Given the description of an element on the screen output the (x, y) to click on. 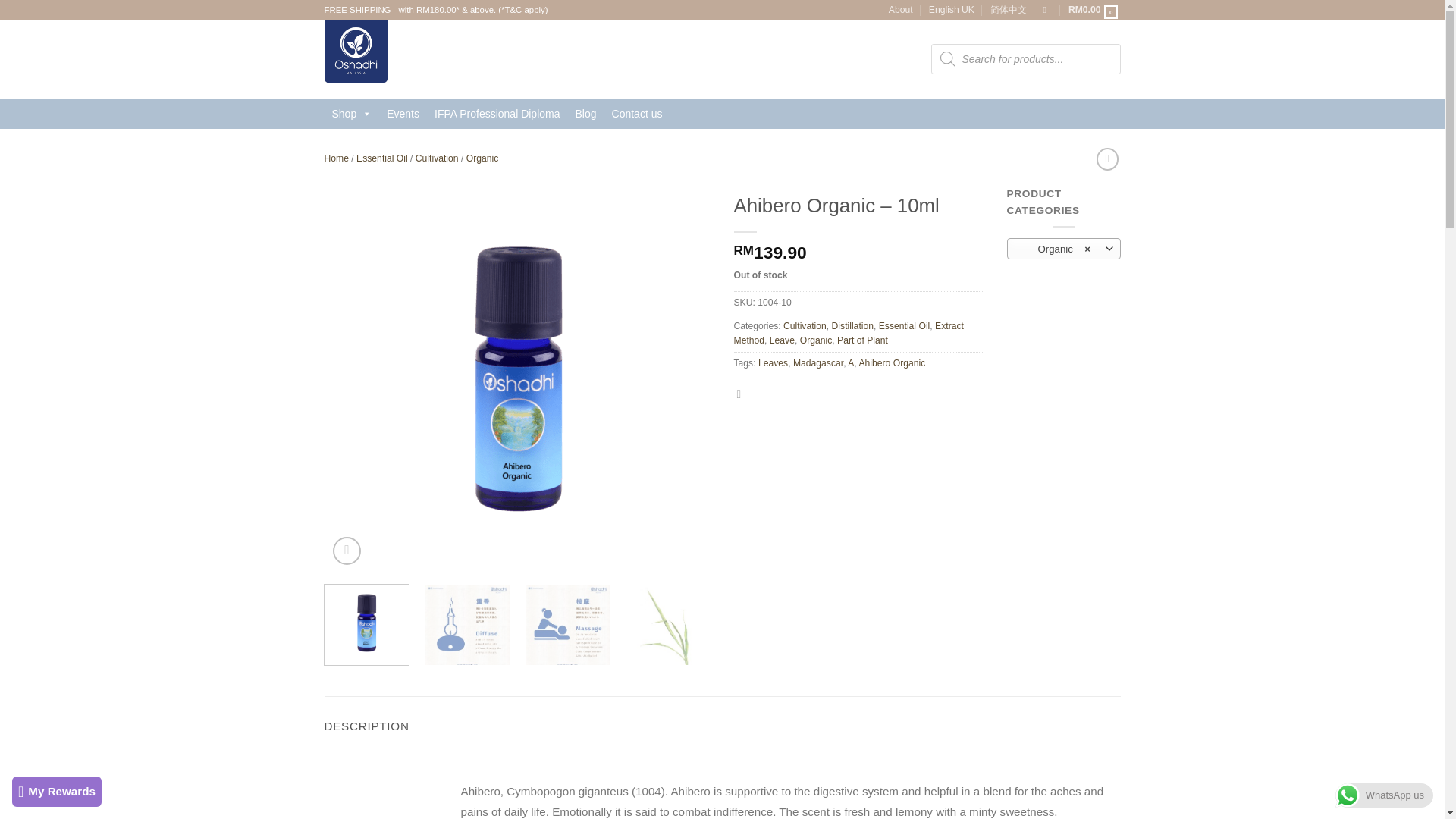
English UK (951, 9)
Zoom (347, 551)
Oshadhi Malaysia - oshadhi malaysia (392, 58)
Basket (1094, 9)
Shop (352, 113)
English UK (951, 9)
Share on Facebook (742, 393)
About (900, 9)
